Given the description of an element on the screen output the (x, y) to click on. 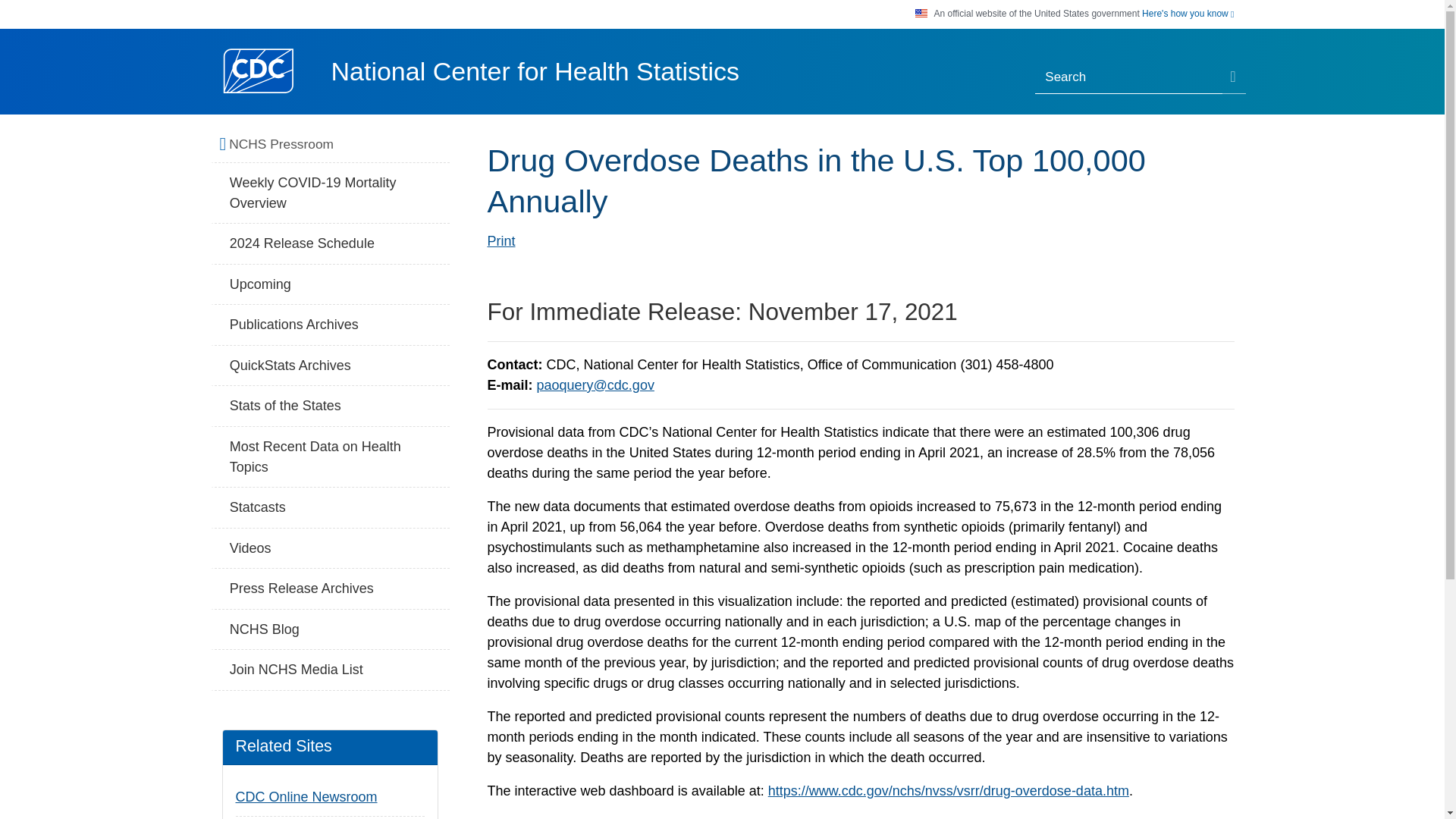
National Center for Health Statistics (534, 71)
Print (500, 240)
Here's how you know (1187, 14)
